Given the description of an element on the screen output the (x, y) to click on. 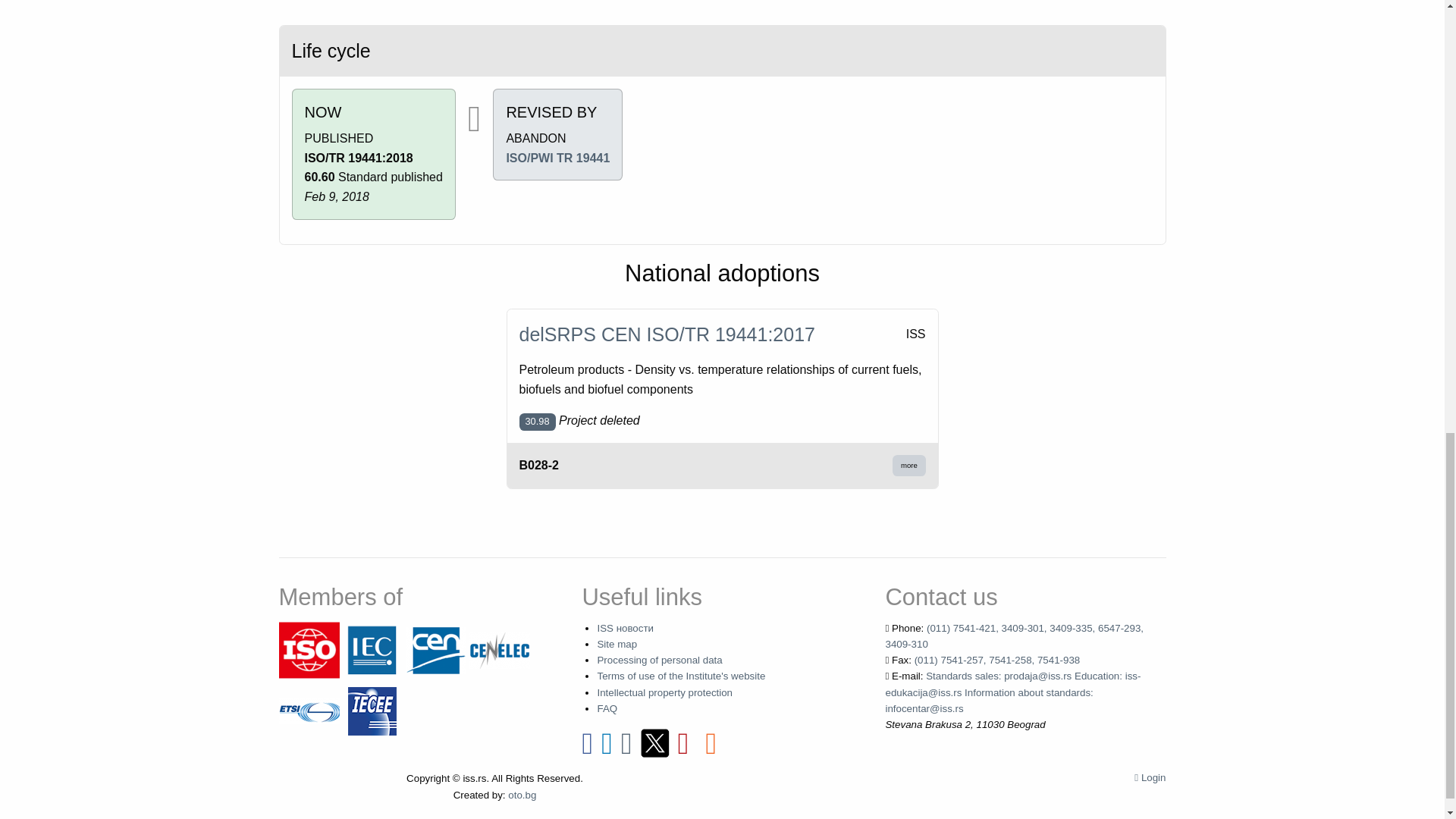
Project deleted (536, 421)
IECEE (372, 709)
CEN (435, 649)
ETSI (309, 709)
CENELEC (498, 649)
IEC (372, 649)
ISO (309, 649)
